Given the description of an element on the screen output the (x, y) to click on. 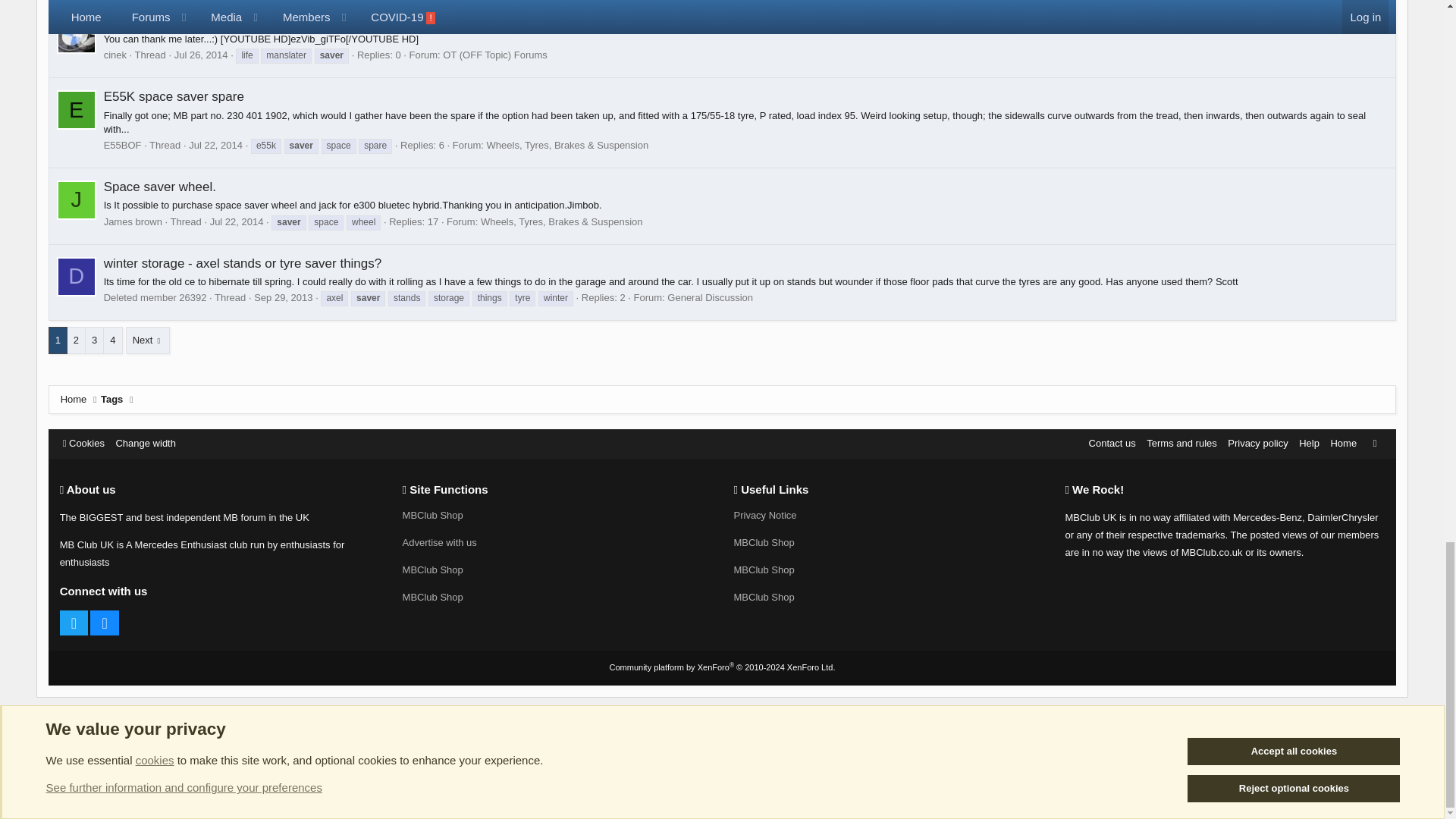
Jul 26, 2014 at 5:35 PM (201, 54)
